Given the description of an element on the screen output the (x, y) to click on. 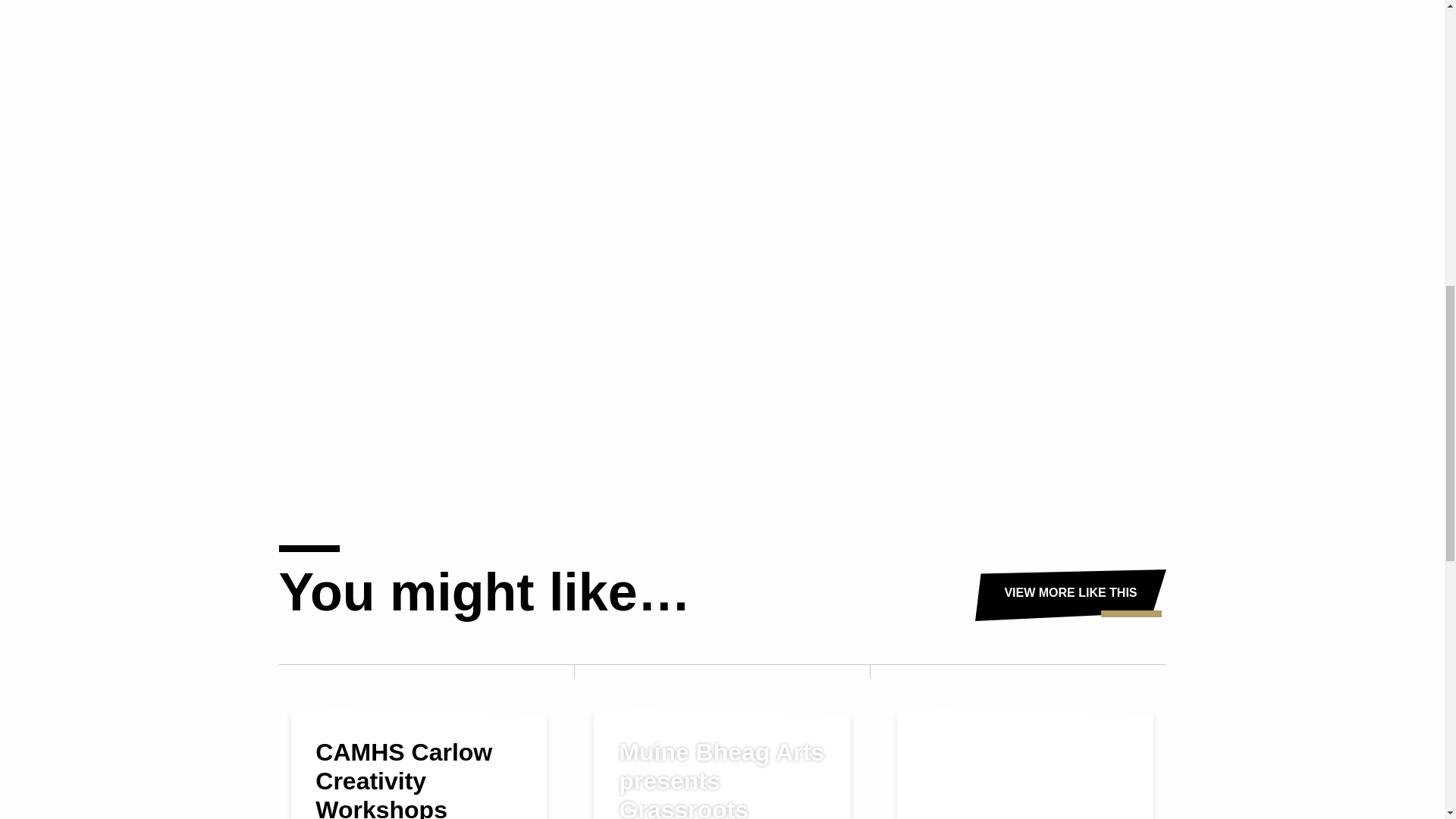
Art Through Nature Workshops in Hacketstown (1024, 763)
Muine Bheag Arts presents Grassroots Festival (722, 763)
CAMHS Carlow Creativity Workshops (419, 763)
VIEW MORE LIKE THIS (1070, 594)
